Given the description of an element on the screen output the (x, y) to click on. 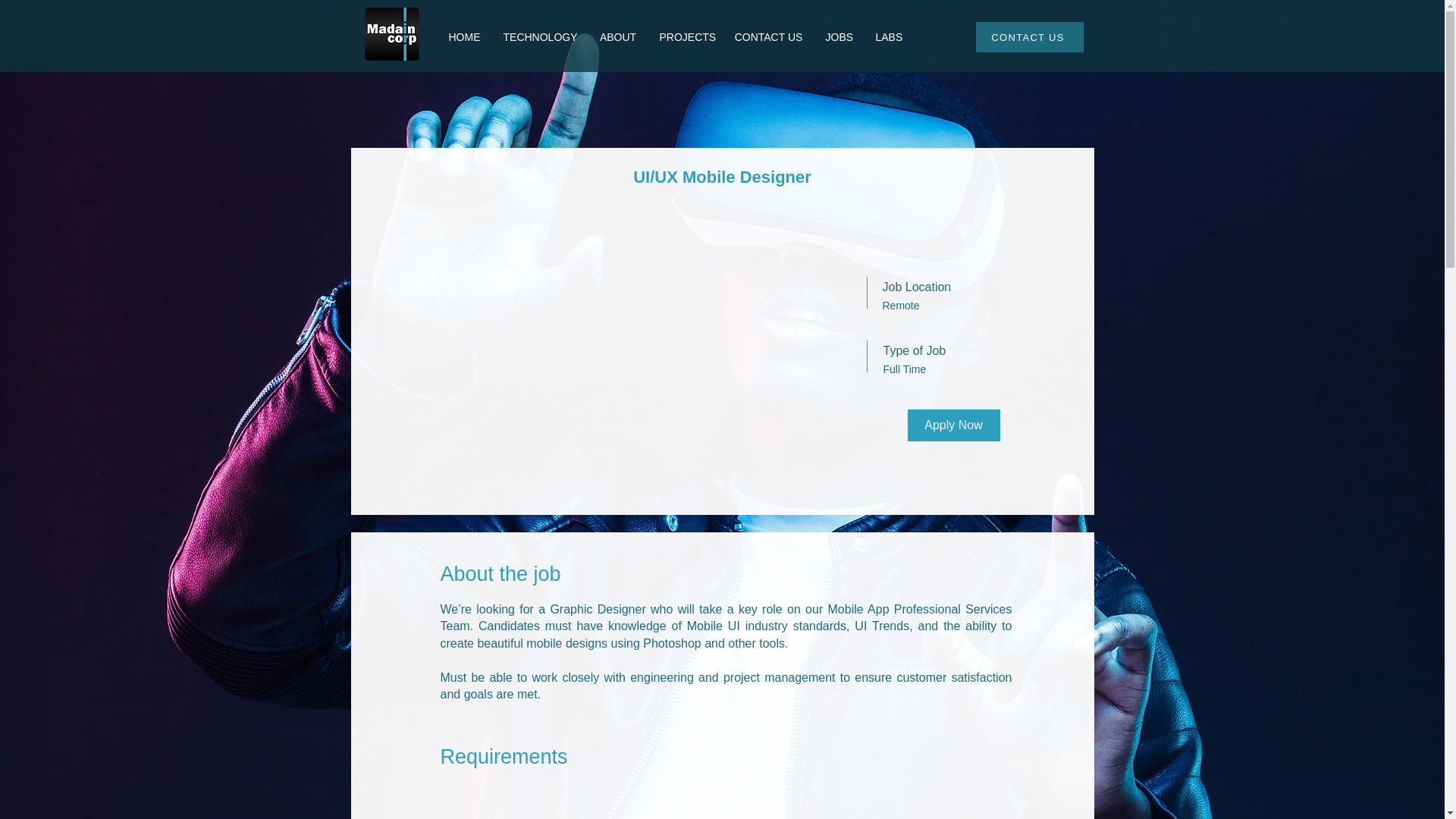
LABS (888, 37)
JOBS (838, 37)
TECHNOLOGY (540, 37)
PROJECTS (684, 37)
Apply Now (952, 425)
HOME (464, 37)
ABOUT (617, 37)
CONTACT US (1029, 37)
CONTACT US (768, 37)
